Given the description of an element on the screen output the (x, y) to click on. 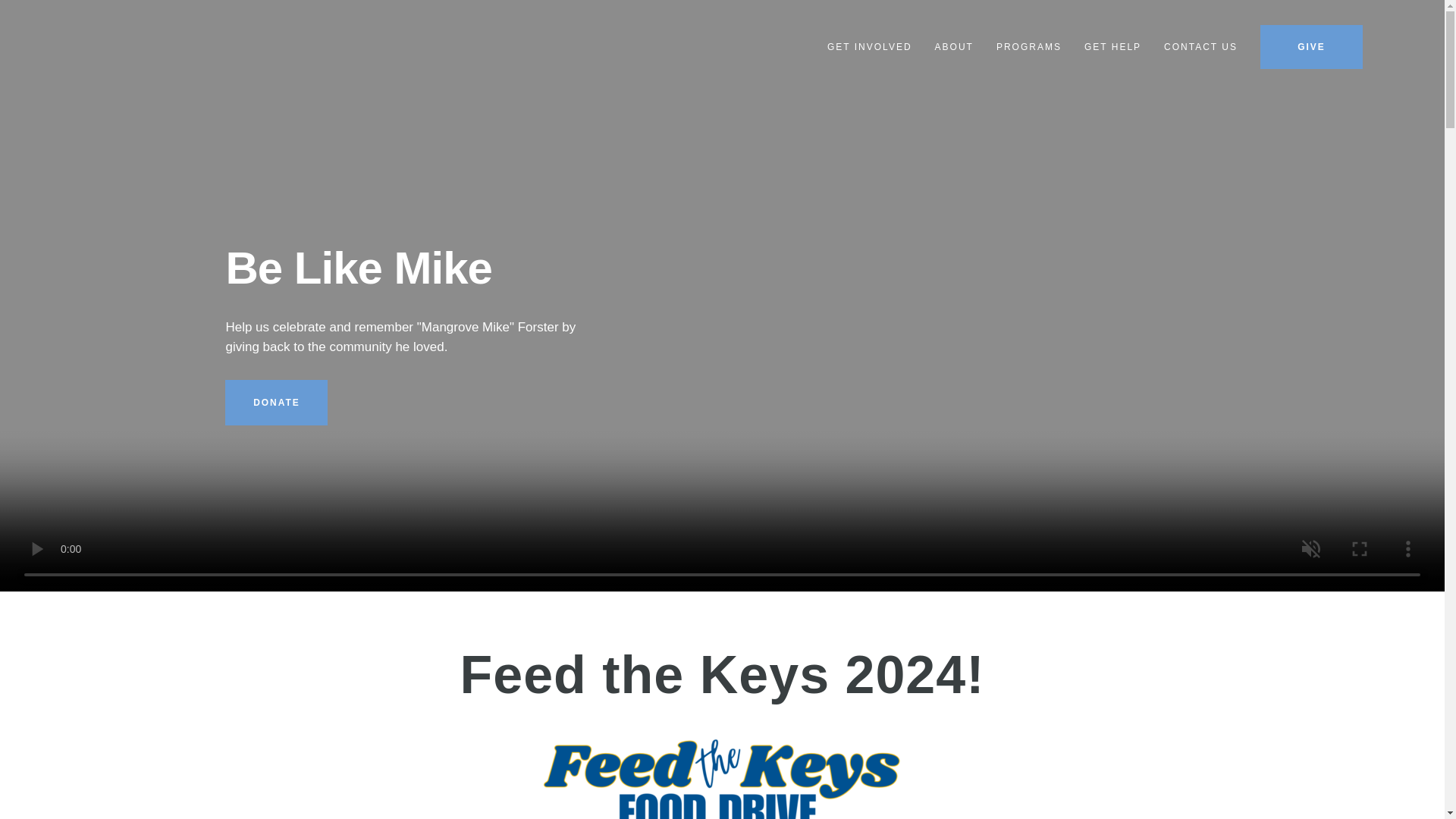
ABOUT (954, 46)
GET HELP (1112, 46)
DONATE (276, 402)
GIVE (1311, 46)
CONTACT US (1200, 46)
united way of collier county (66, 55)
GET INVOLVED (869, 46)
PROGRAMS (1028, 46)
